Given the description of an element on the screen output the (x, y) to click on. 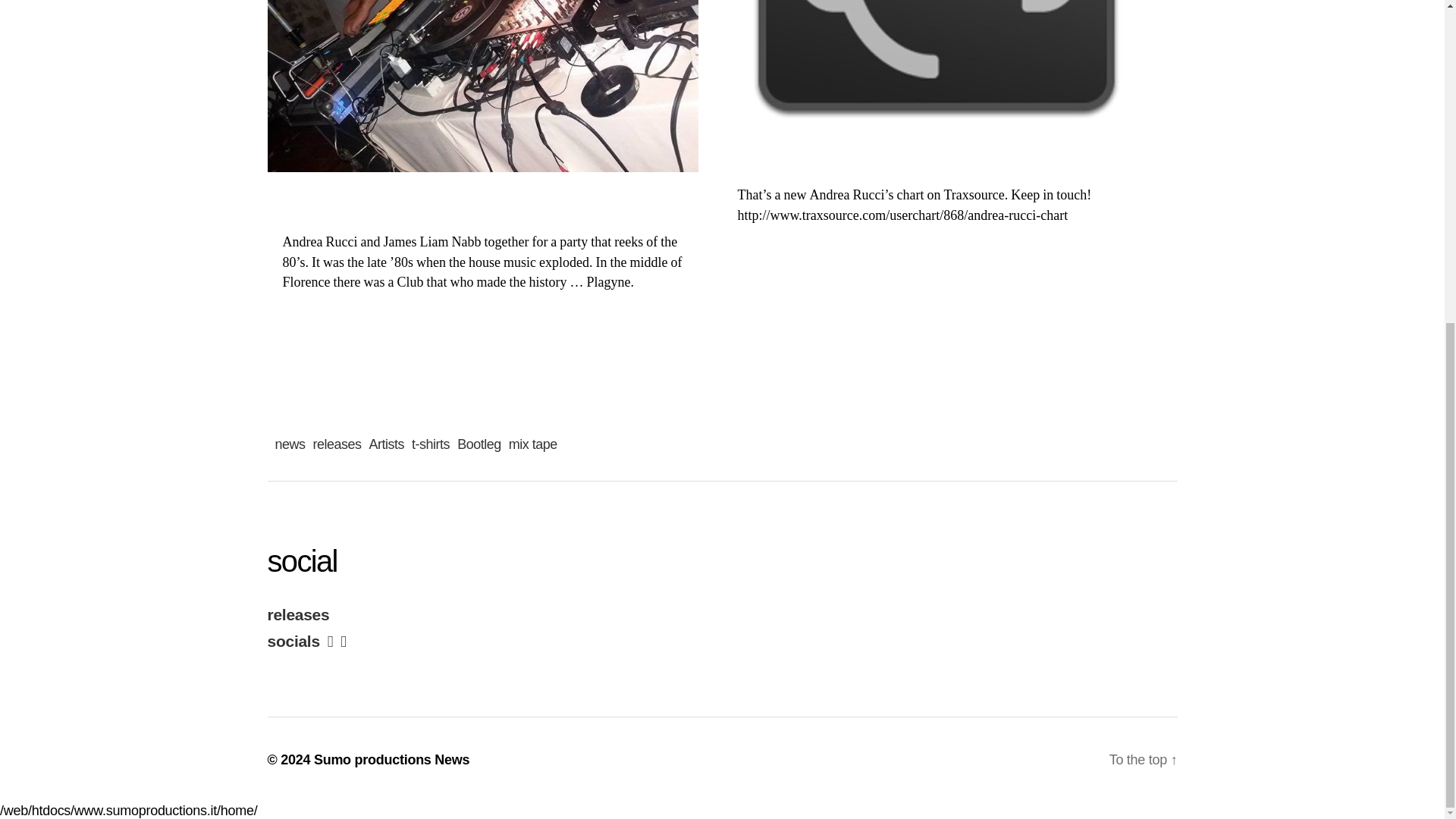
t-shirts (430, 444)
mix tape (532, 444)
releases (297, 614)
Bootleg (478, 444)
releases (337, 444)
news (289, 444)
socials (292, 641)
Artists (386, 444)
Sumo productions News (391, 759)
